Given the description of an element on the screen output the (x, y) to click on. 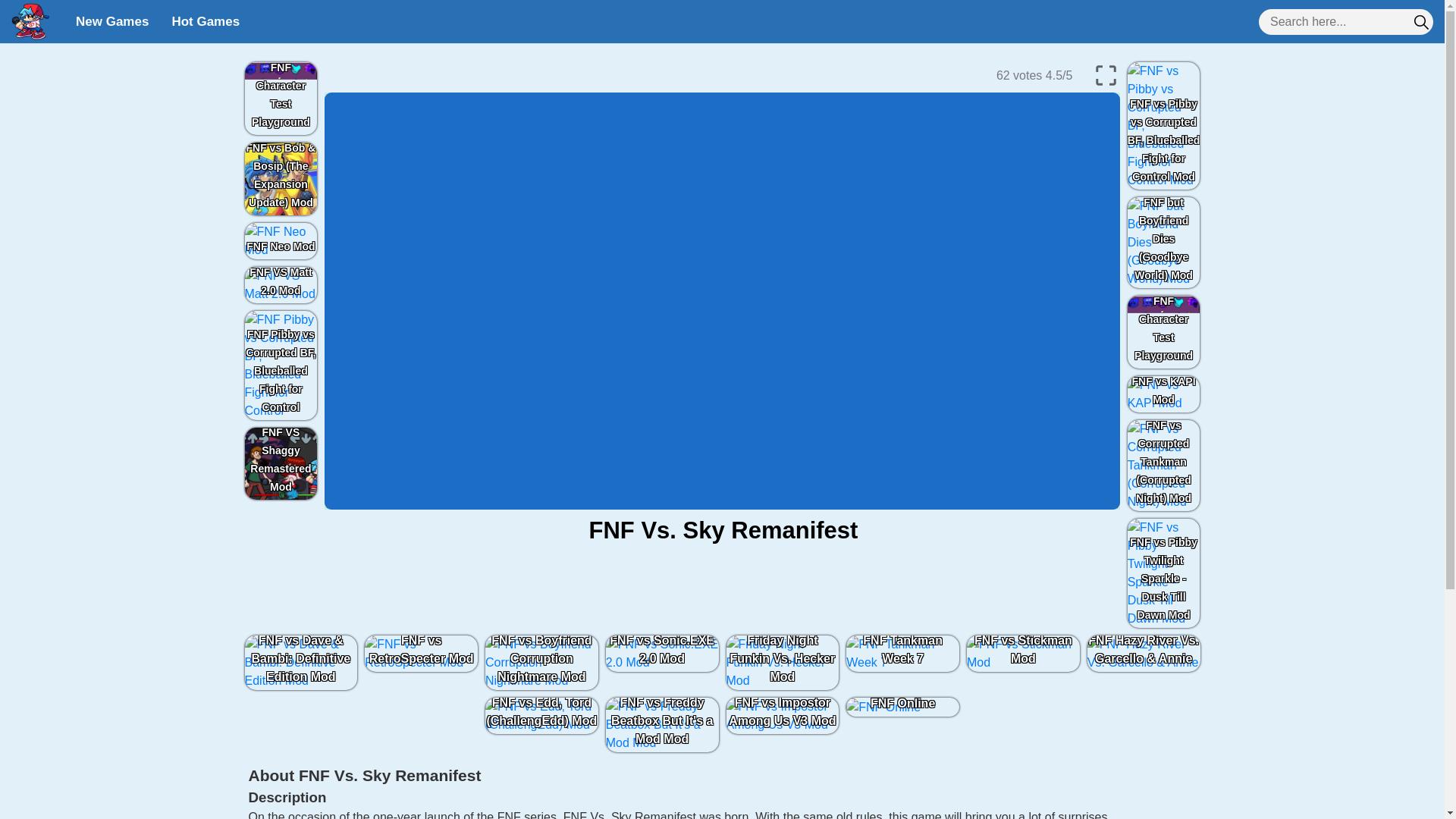
FNF Tankman Week 7 (902, 653)
FNF vs RetroSpecter Mod (421, 653)
FNF vs Stickman Mod (1022, 653)
FNF Character Test Playground (280, 98)
FNF Neo Mod (280, 240)
FNF Character Test Playground (281, 98)
FNF Neo Mod (281, 240)
FNF vs KAPI Mod (1164, 393)
FNF Character Test Playground (1162, 331)
FNF Mods (30, 21)
